Given the description of an element on the screen output the (x, y) to click on. 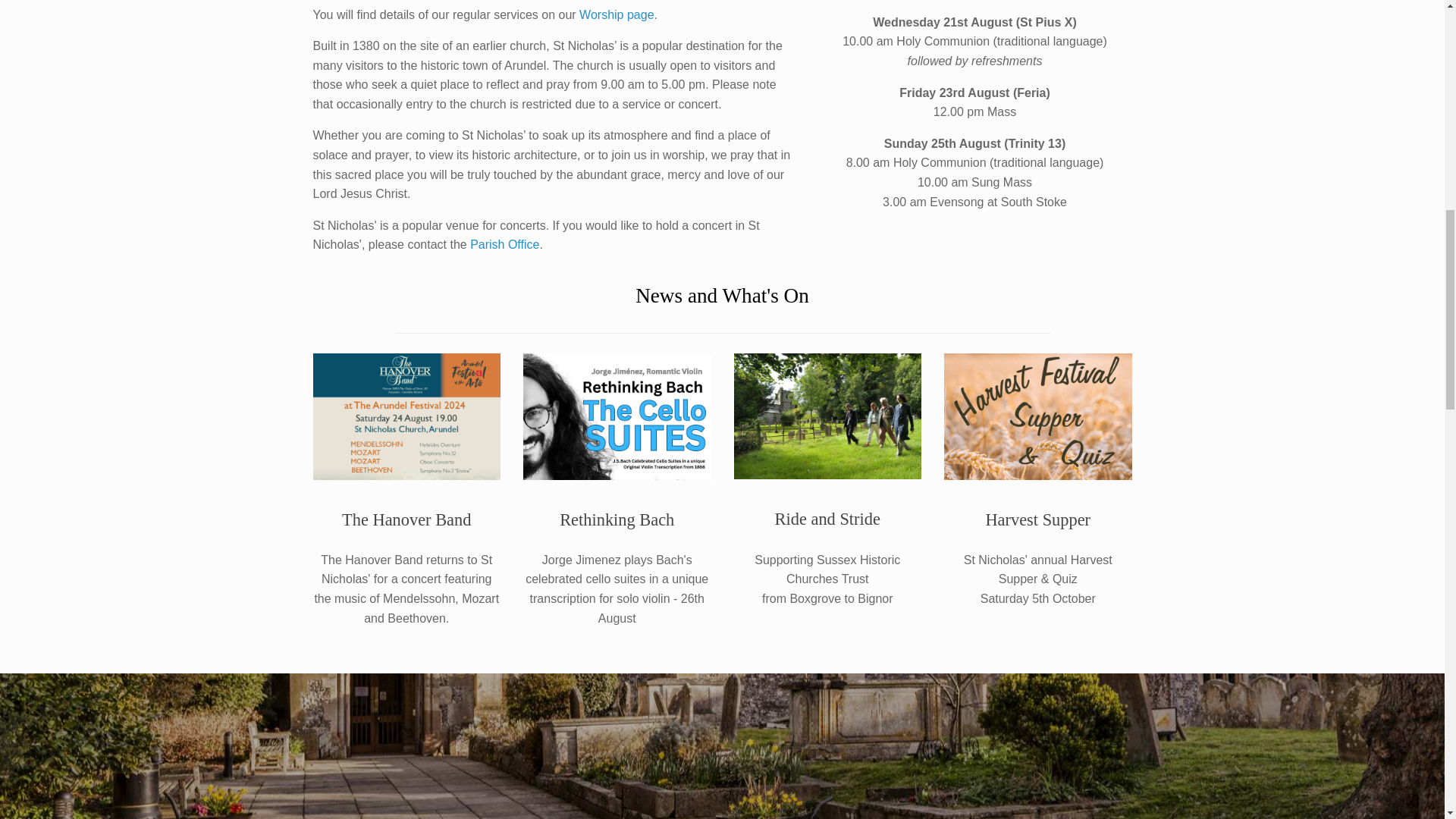
Parish Office (504, 244)
News and What's On (721, 295)
Ride and Stride 2024 Feature (827, 415)
Worship page (616, 14)
Harvest Supper Banner (1037, 415)
Hanover Band Summer 24 feature (406, 415)
